Given the description of an element on the screen output the (x, y) to click on. 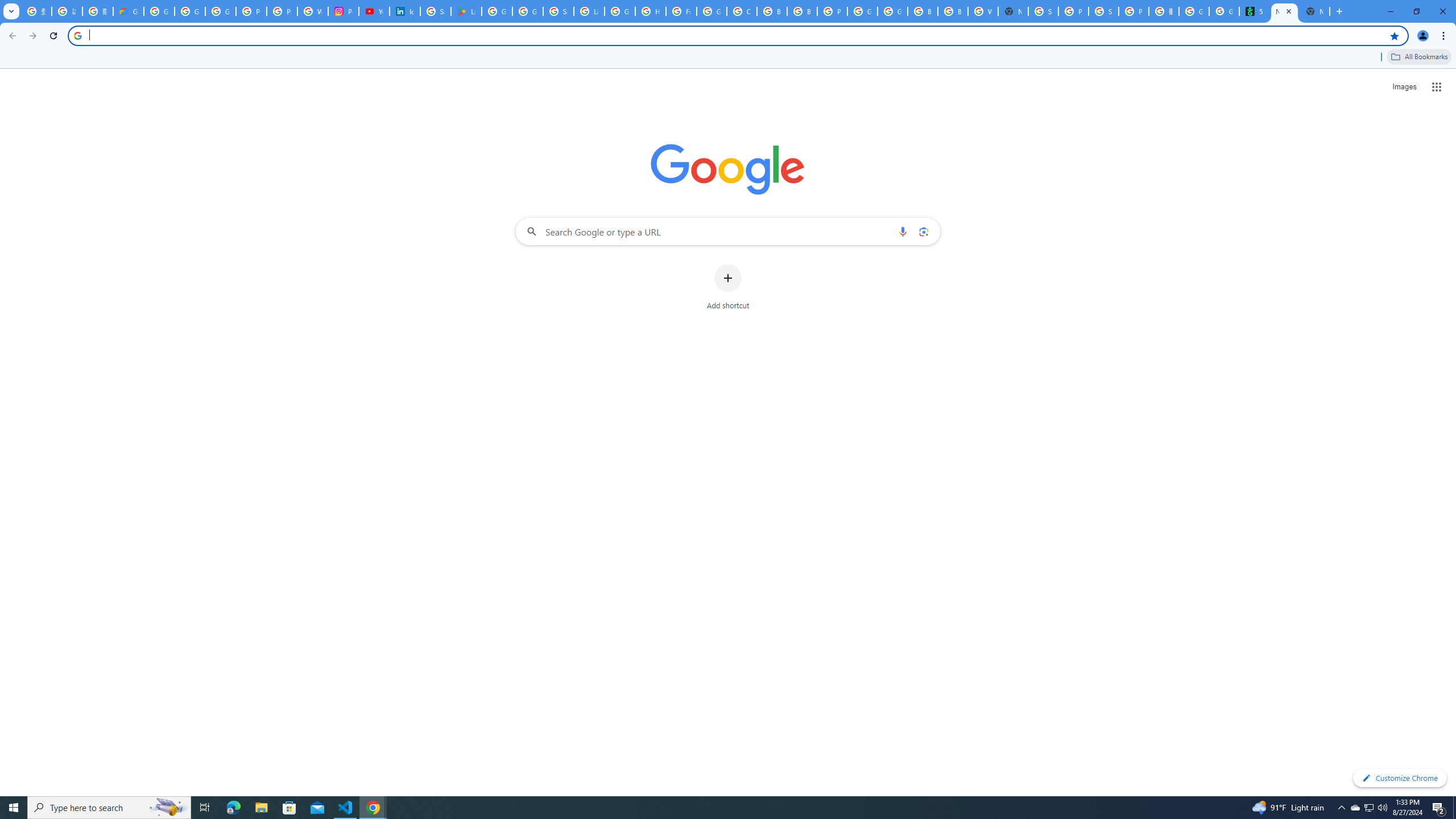
Sign in - Google Accounts (434, 11)
Identity verification via Persona | LinkedIn Help (404, 11)
Privacy Help Center - Policies Help (251, 11)
Add shortcut (727, 287)
